Given the description of an element on the screen output the (x, y) to click on. 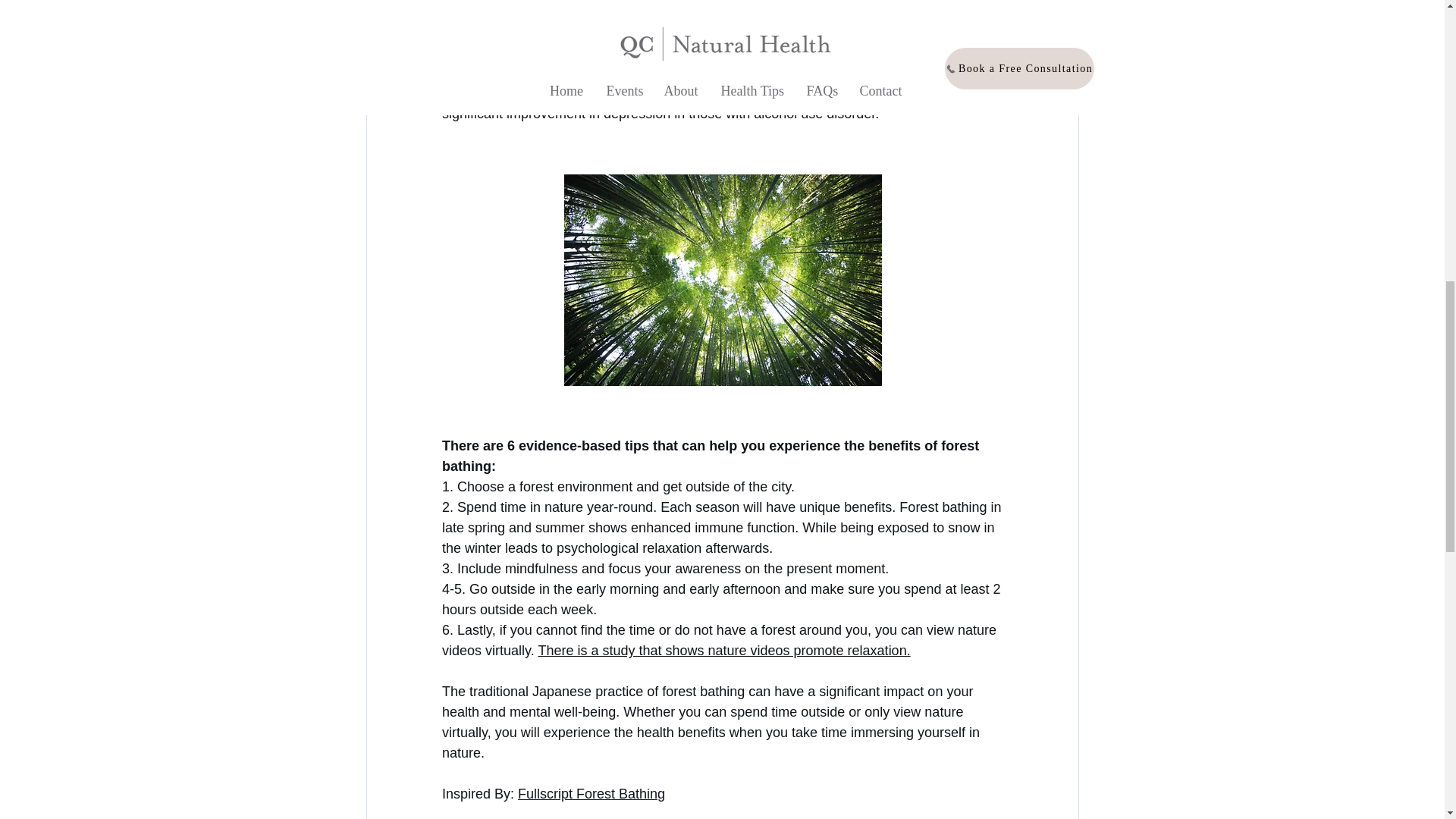
Fullscript Forest Bathing (591, 793)
